Given the description of an element on the screen output the (x, y) to click on. 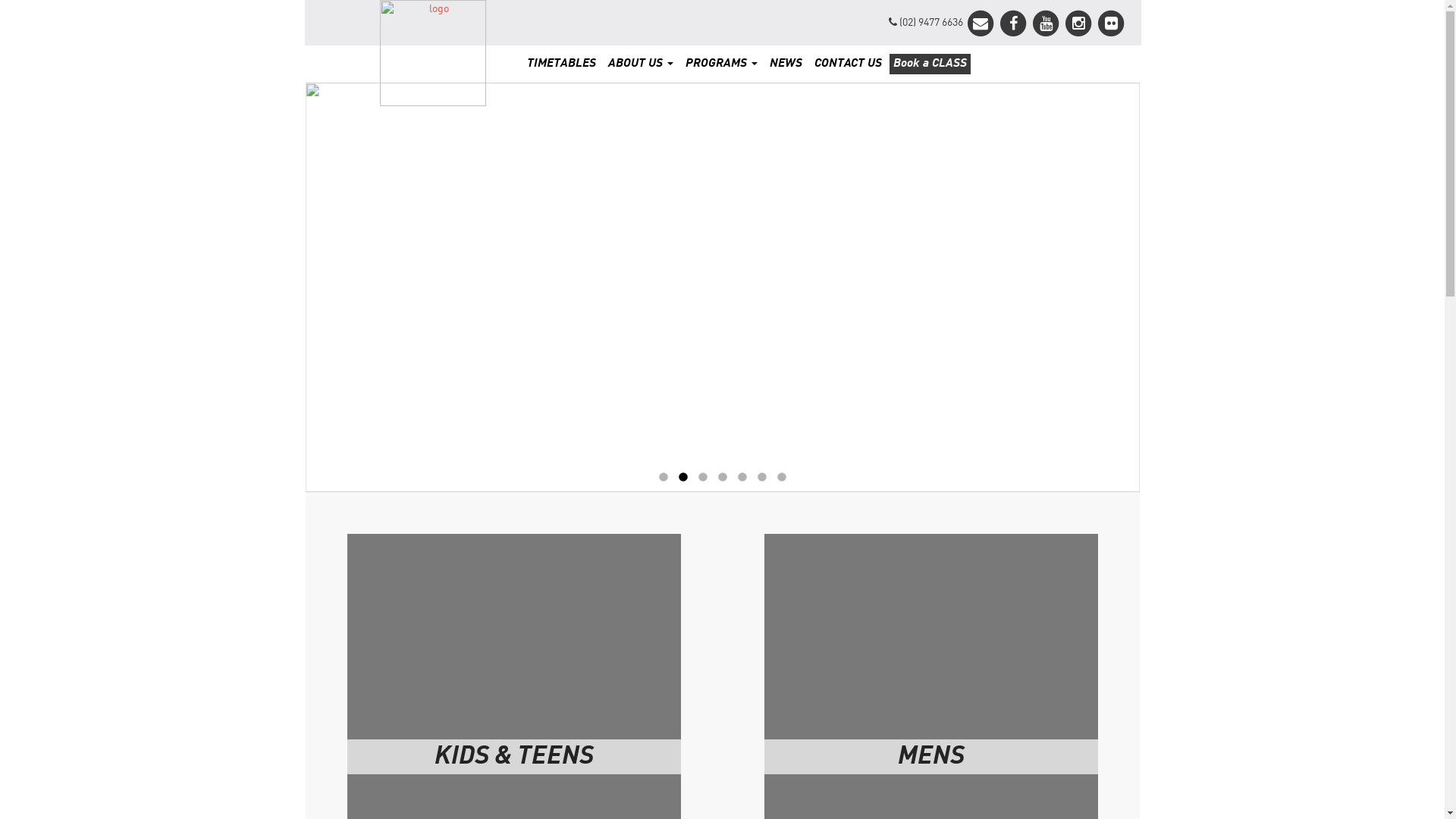
CONTACT US Element type: text (847, 63)
(02) 9477 6636 Element type: text (925, 22)
ABOUT US Element type: text (640, 63)
NEWS Element type: text (785, 63)
PROGRAMS Element type: text (721, 63)
TIMETABLES Element type: text (561, 63)
Book a CLASS Element type: text (929, 63)
